Given the description of an element on the screen output the (x, y) to click on. 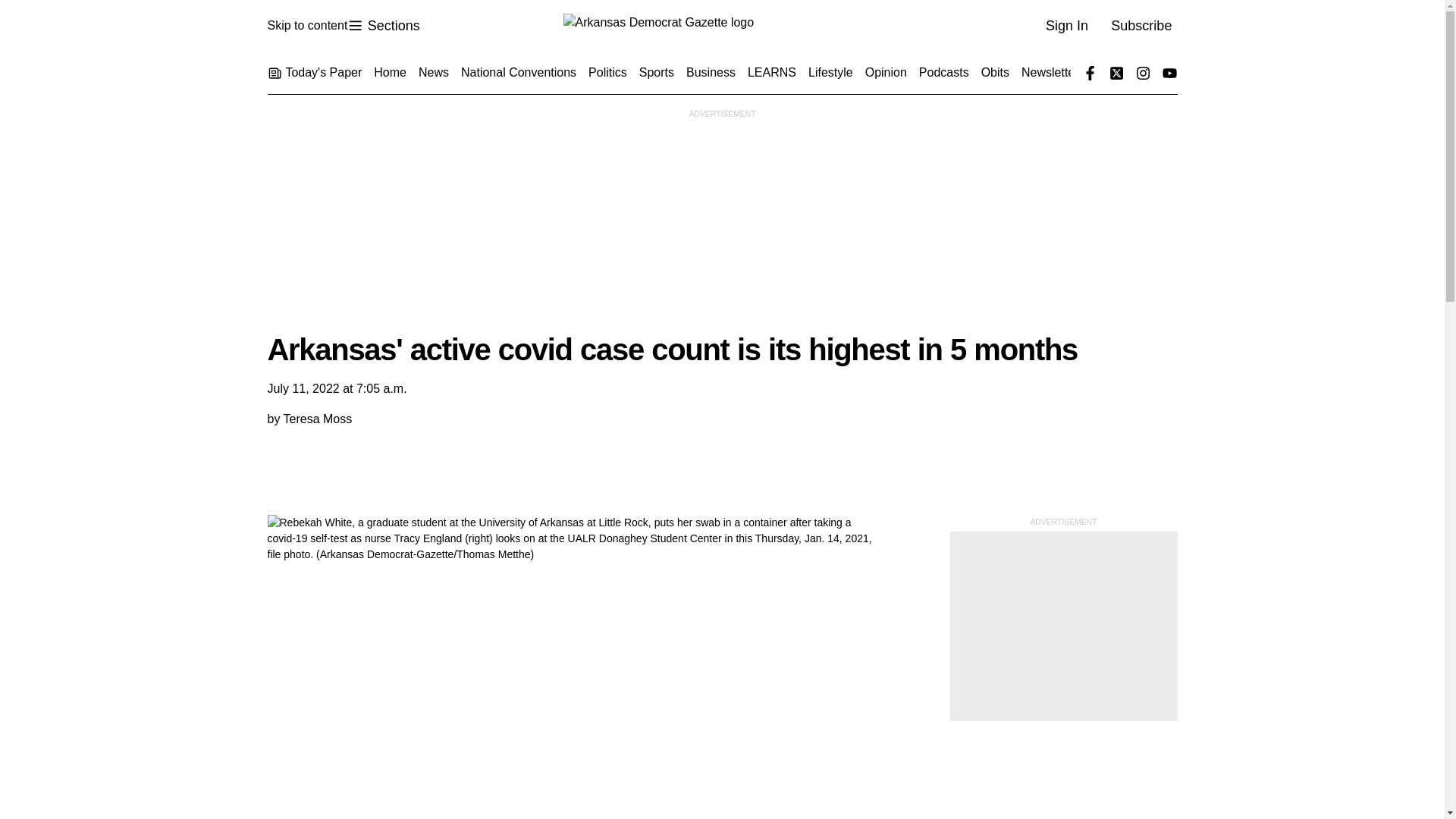
Skip to content (306, 25)
Arkansas Democrat Gazette (721, 25)
